Given the description of an element on the screen output the (x, y) to click on. 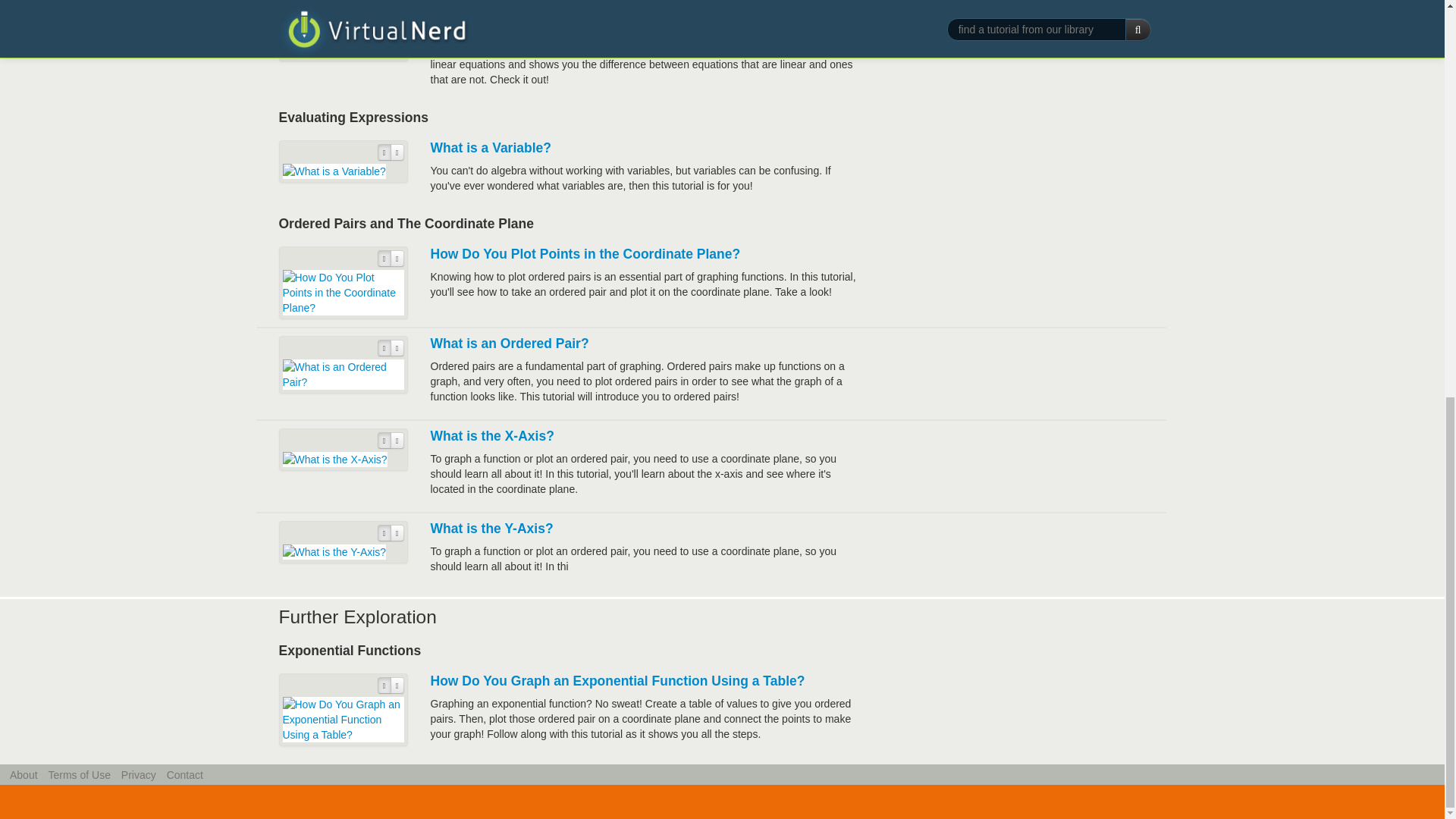
What is a Linear Equation? (515, 11)
